Given the description of an element on the screen output the (x, y) to click on. 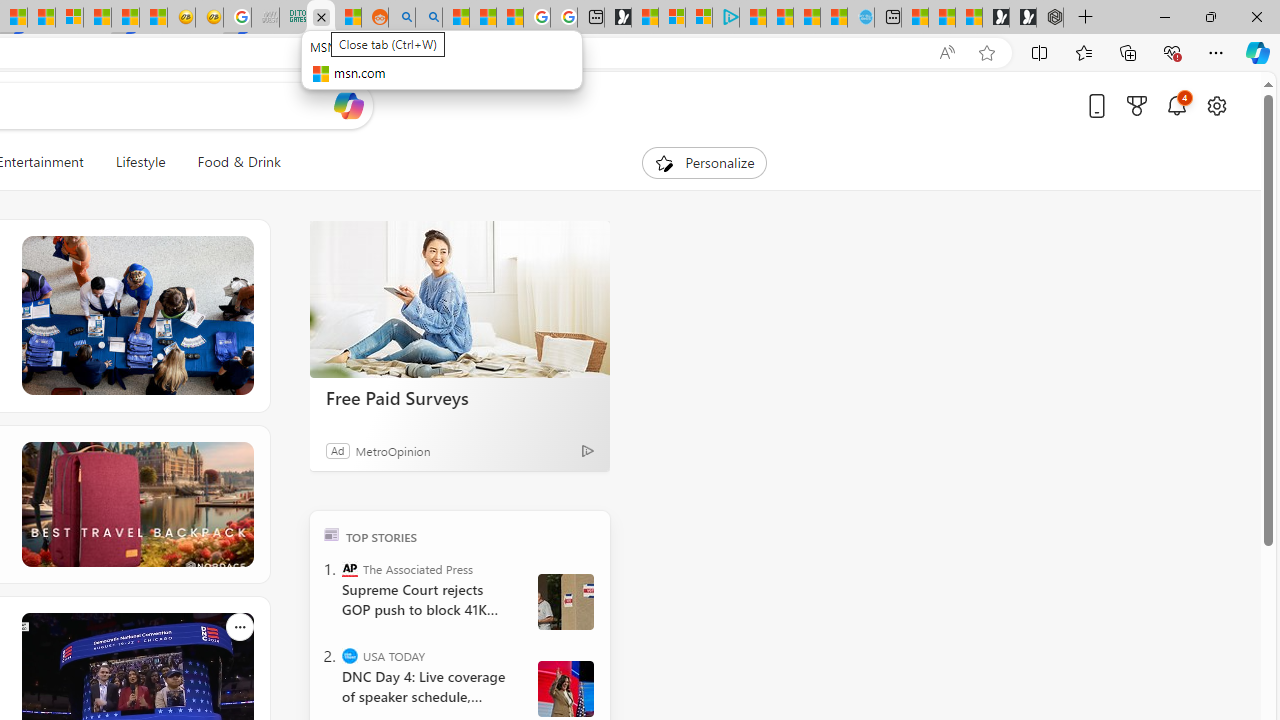
MetroOpinion (392, 450)
Lifestyle (140, 162)
TOP (331, 534)
